Given the description of an element on the screen output the (x, y) to click on. 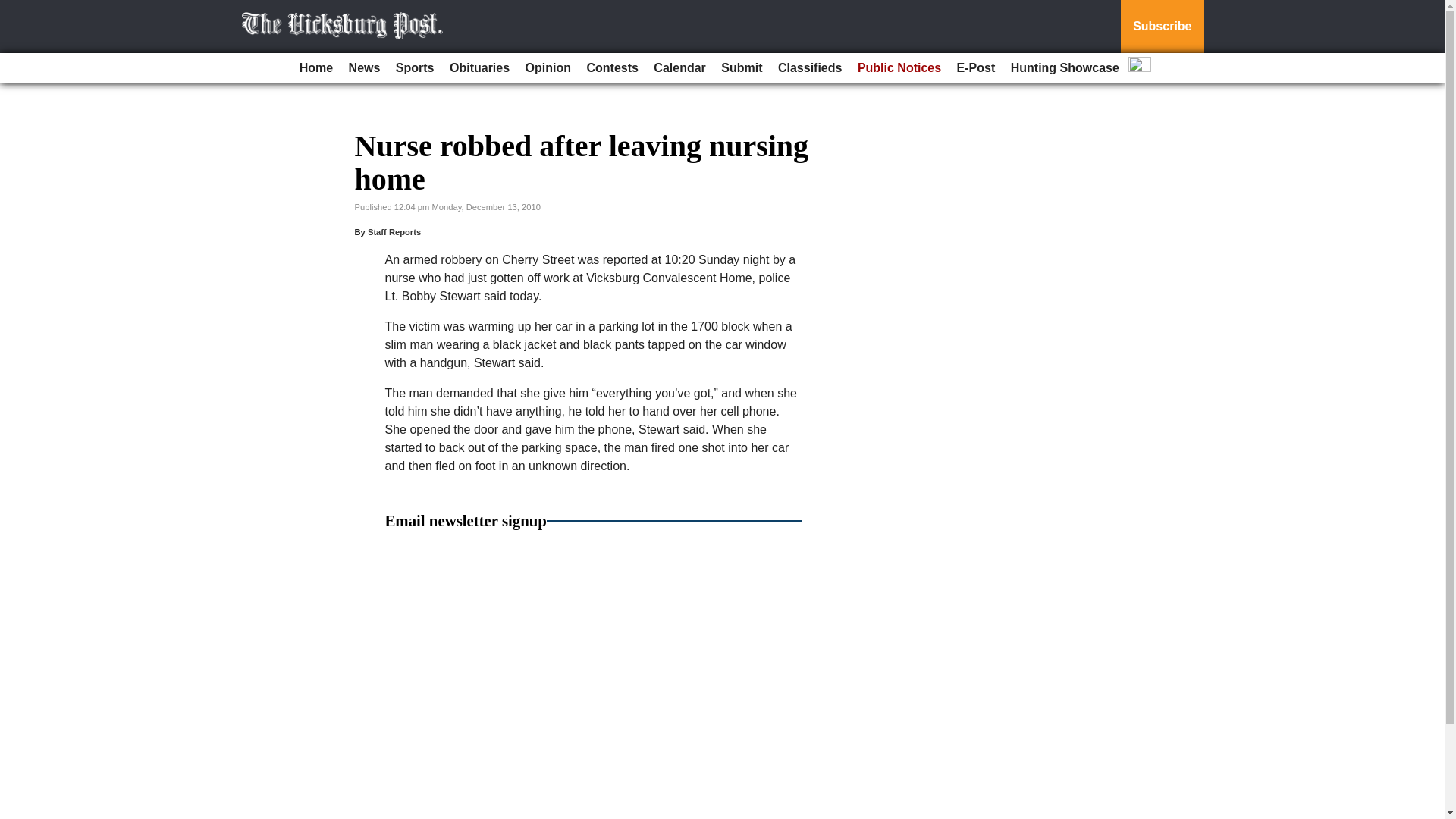
Subscribe (1162, 26)
Contests (611, 68)
Calendar (679, 68)
Public Notices (899, 68)
Go (13, 9)
E-Post (975, 68)
Sports (415, 68)
Hunting Showcase (1064, 68)
Submit (741, 68)
Opinion (547, 68)
